Given the description of an element on the screen output the (x, y) to click on. 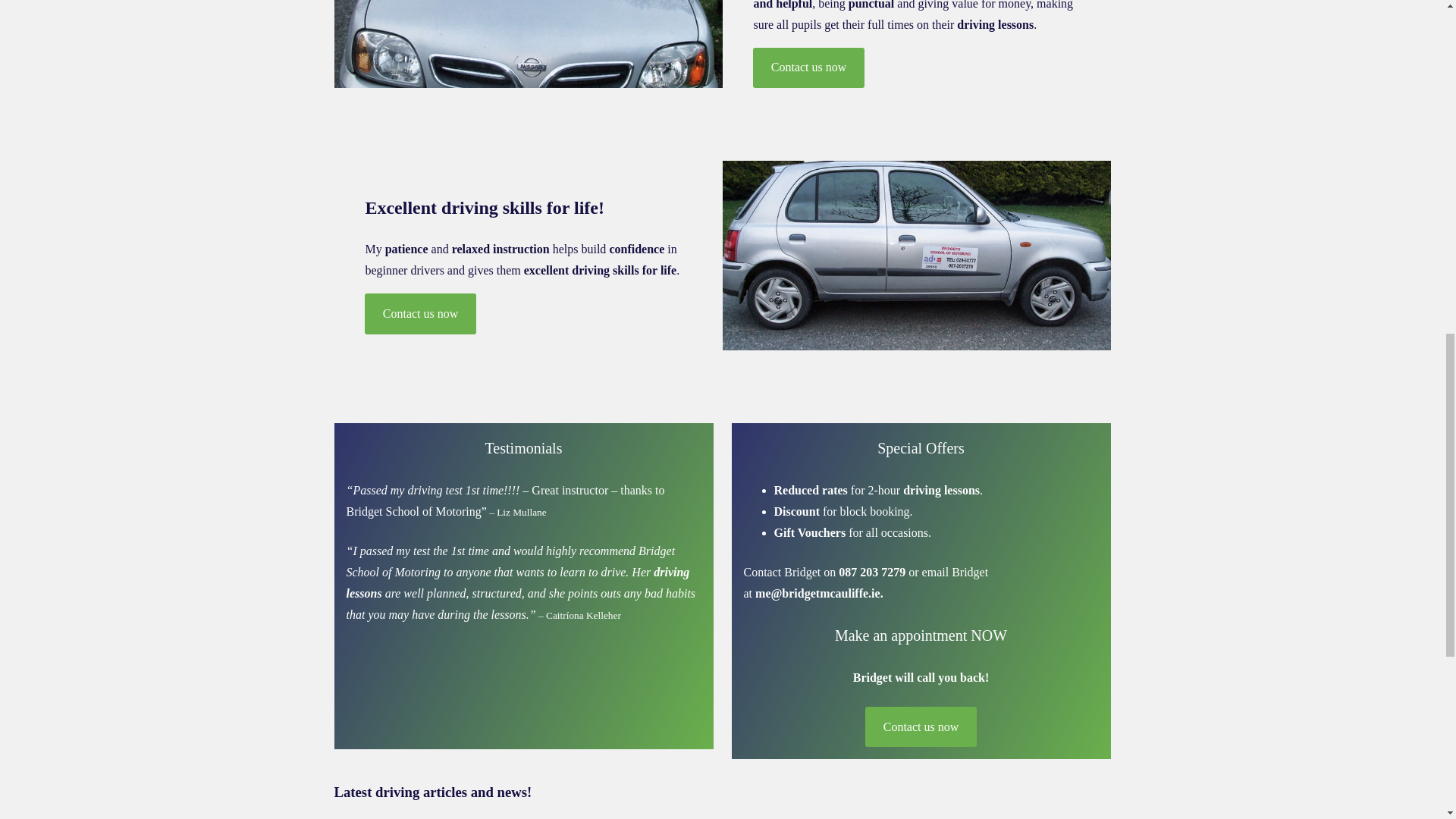
Contact us now (919, 726)
Contact us now (807, 67)
Contact us now (420, 313)
